Given the description of an element on the screen output the (x, y) to click on. 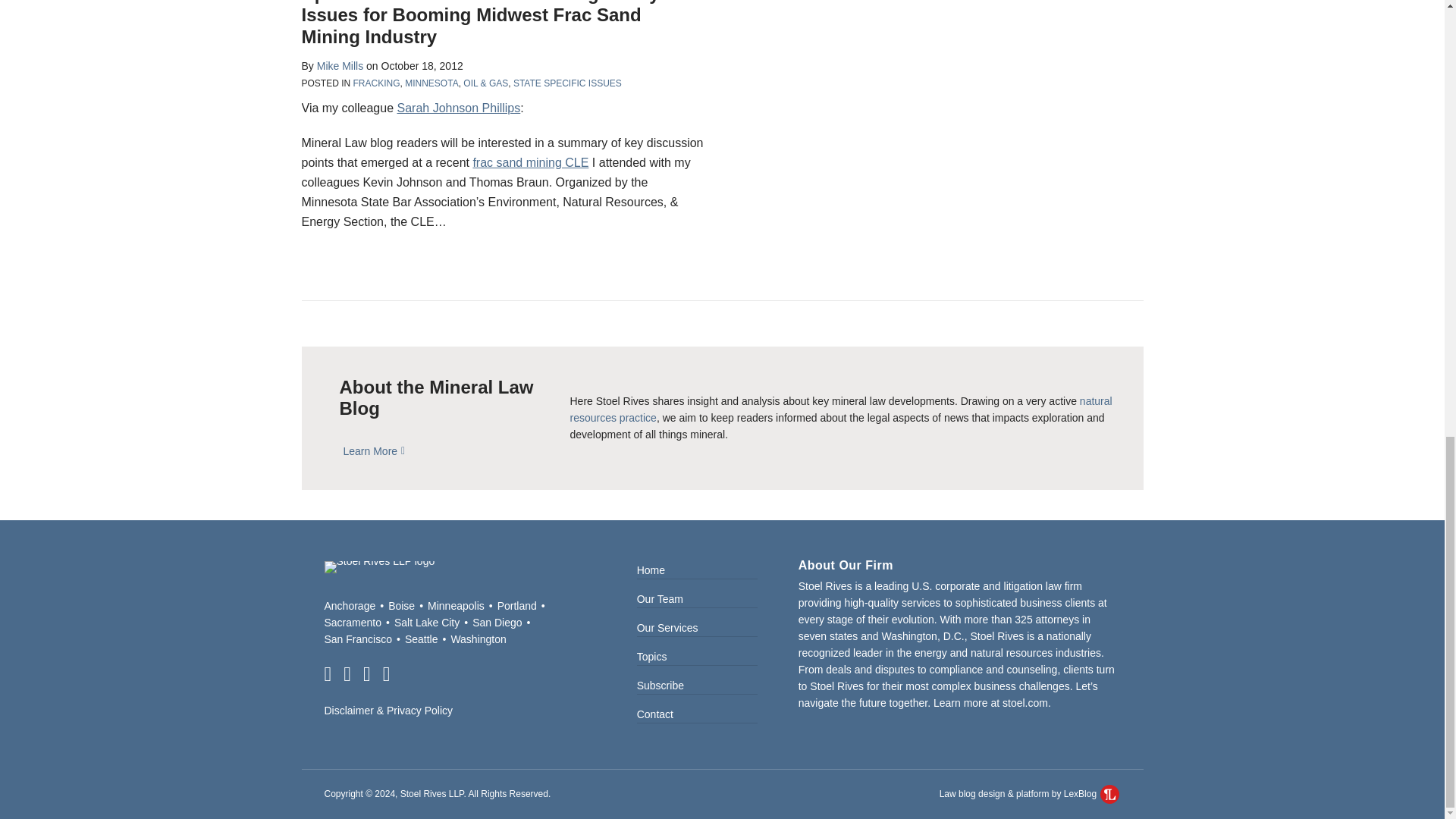
LexBlog Logo (1109, 793)
Mike Mills (339, 65)
FRACKING (376, 82)
